Given the description of an element on the screen output the (x, y) to click on. 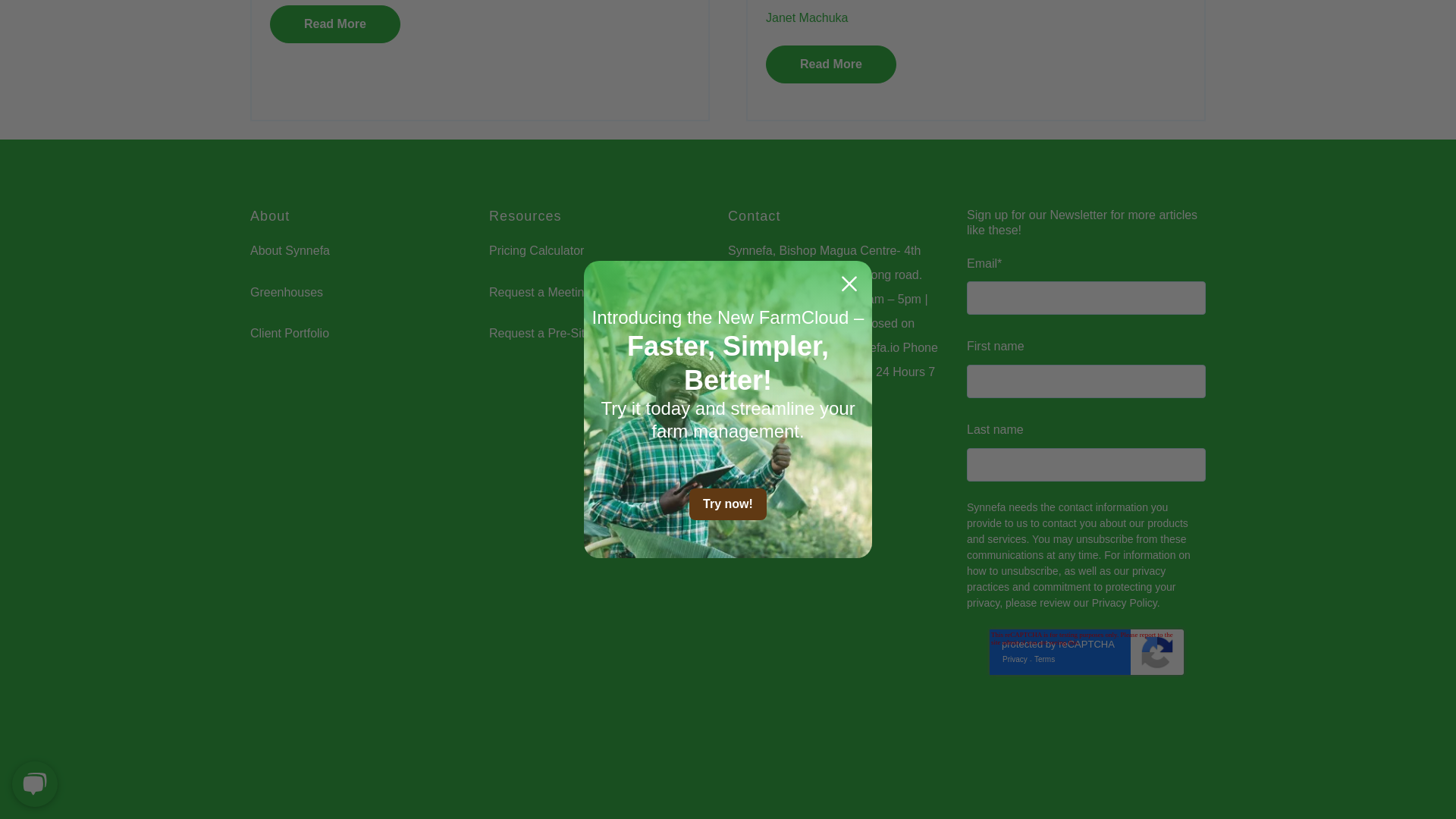
Submit (1085, 709)
Follow us on Instagram (374, 760)
Follow us on Instagram (379, 764)
Follow us on Facebook (268, 764)
Follow us on LinkedIn (305, 764)
Follow us on Twitter (342, 764)
Follow us on LinkedIn (301, 760)
Follow us on Twitter (337, 760)
Follow us on Facebook (264, 760)
